Given the description of an element on the screen output the (x, y) to click on. 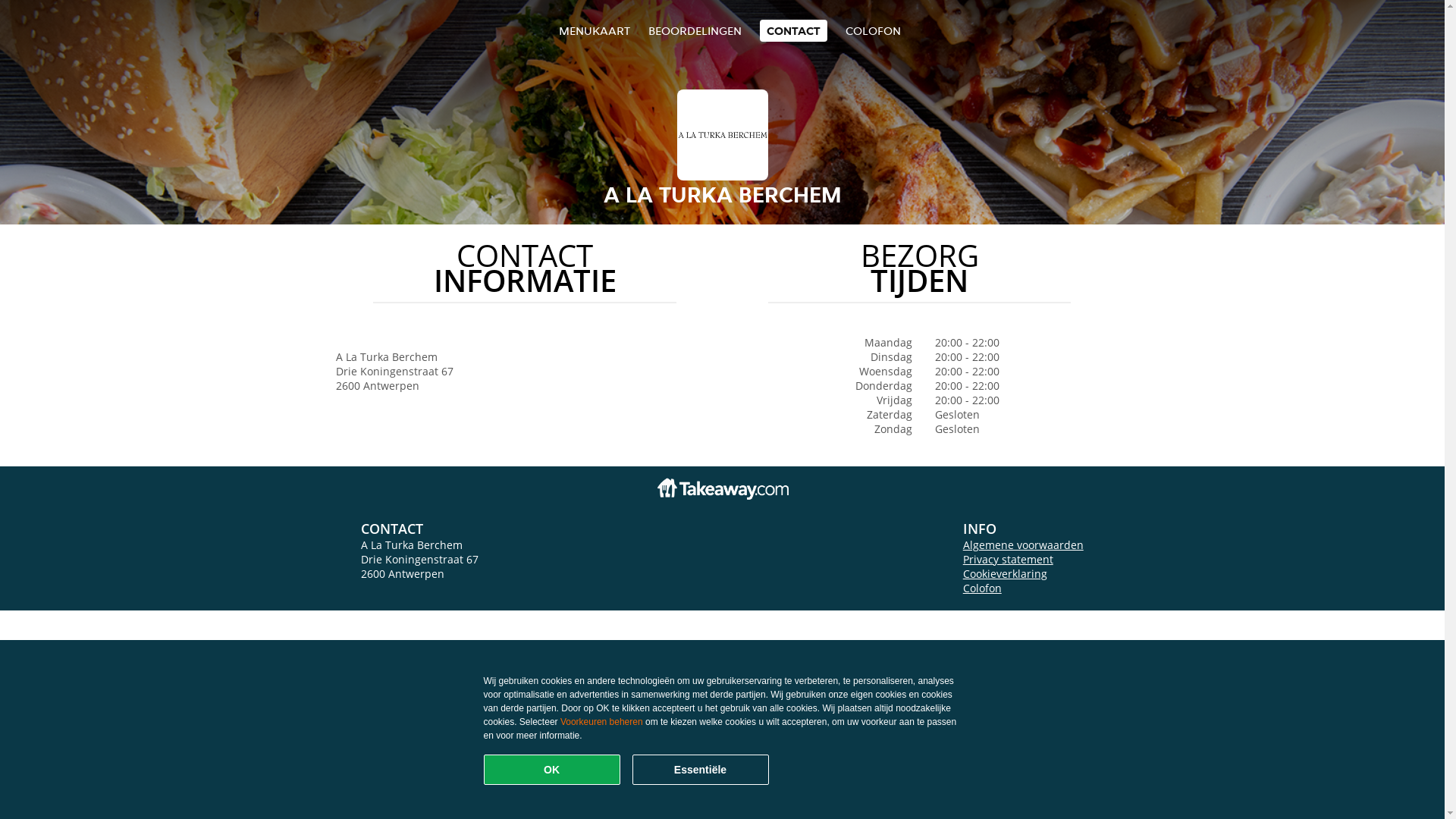
OK Element type: text (551, 769)
MENUKAART Element type: text (594, 30)
BEOORDELINGEN Element type: text (694, 30)
Privacy statement Element type: text (1008, 559)
Colofon Element type: text (982, 587)
Algemene voorwaarden Element type: text (1023, 544)
Cookieverklaring Element type: text (1005, 573)
CONTACT Element type: text (793, 30)
COLOFON Element type: text (872, 30)
Voorkeuren beheren Element type: text (601, 721)
